Given the description of an element on the screen output the (x, y) to click on. 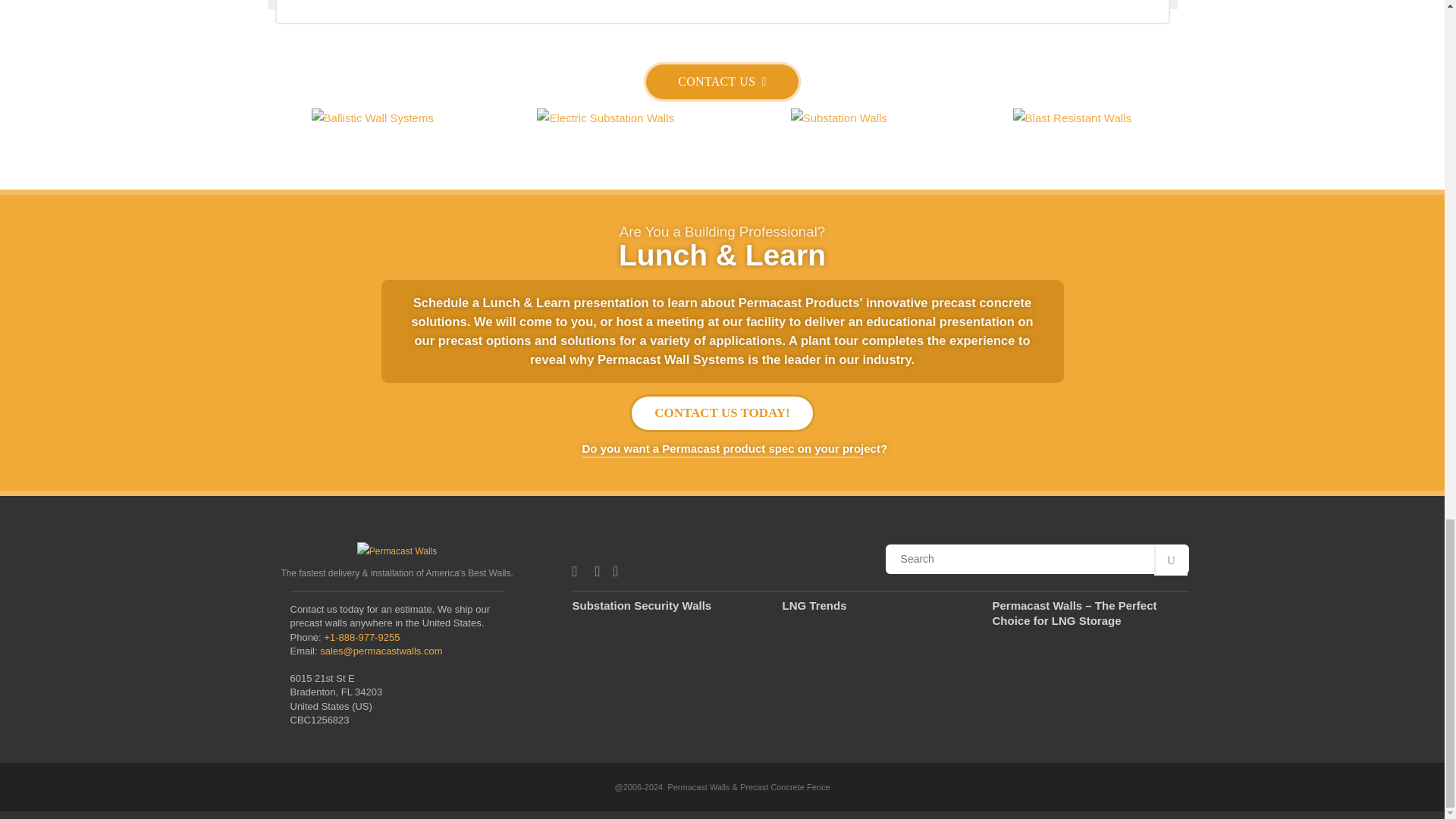
U (1171, 560)
